Given the description of an element on the screen output the (x, y) to click on. 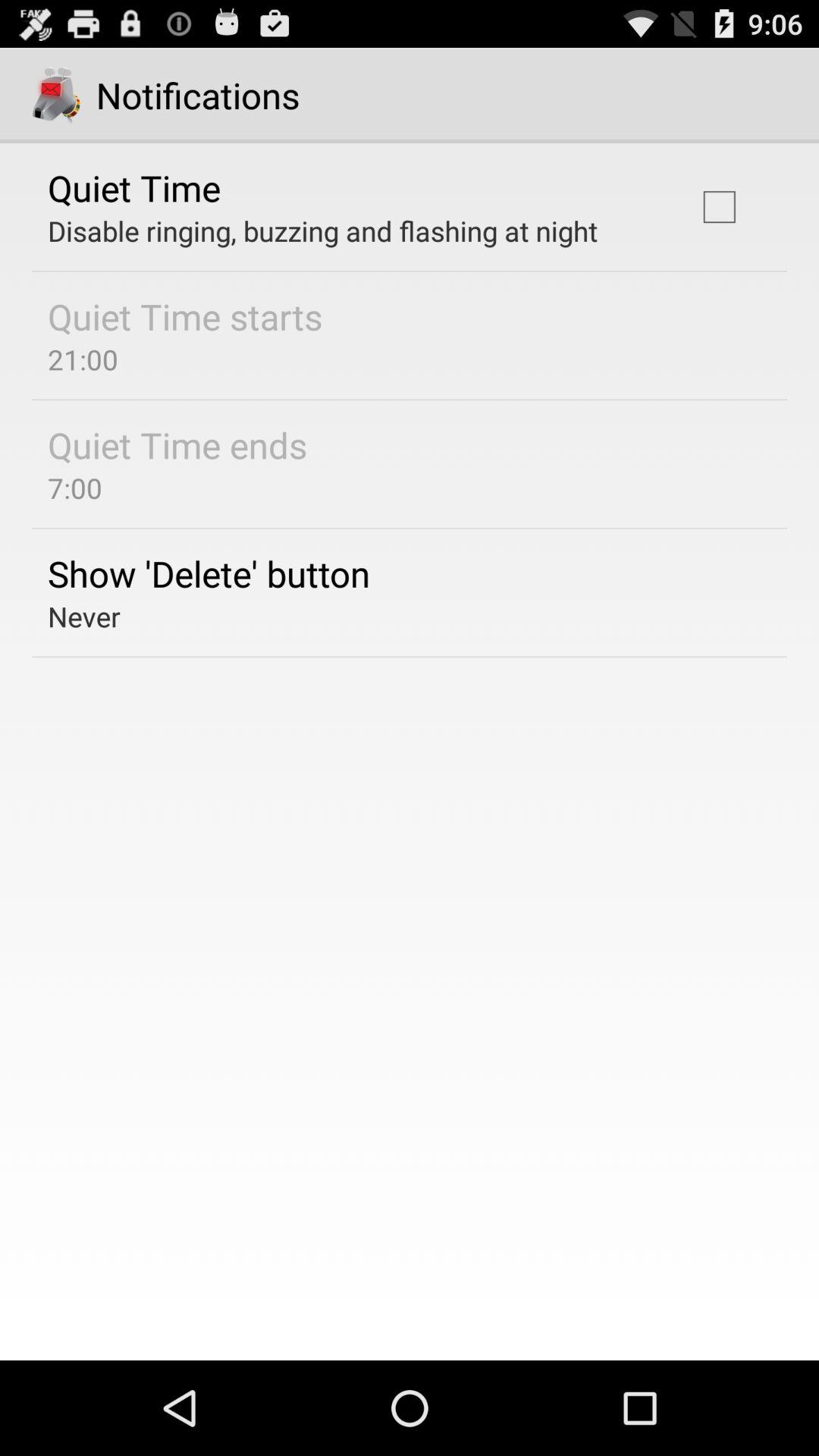
turn on the app below the 7:00 app (208, 573)
